Given the description of an element on the screen output the (x, y) to click on. 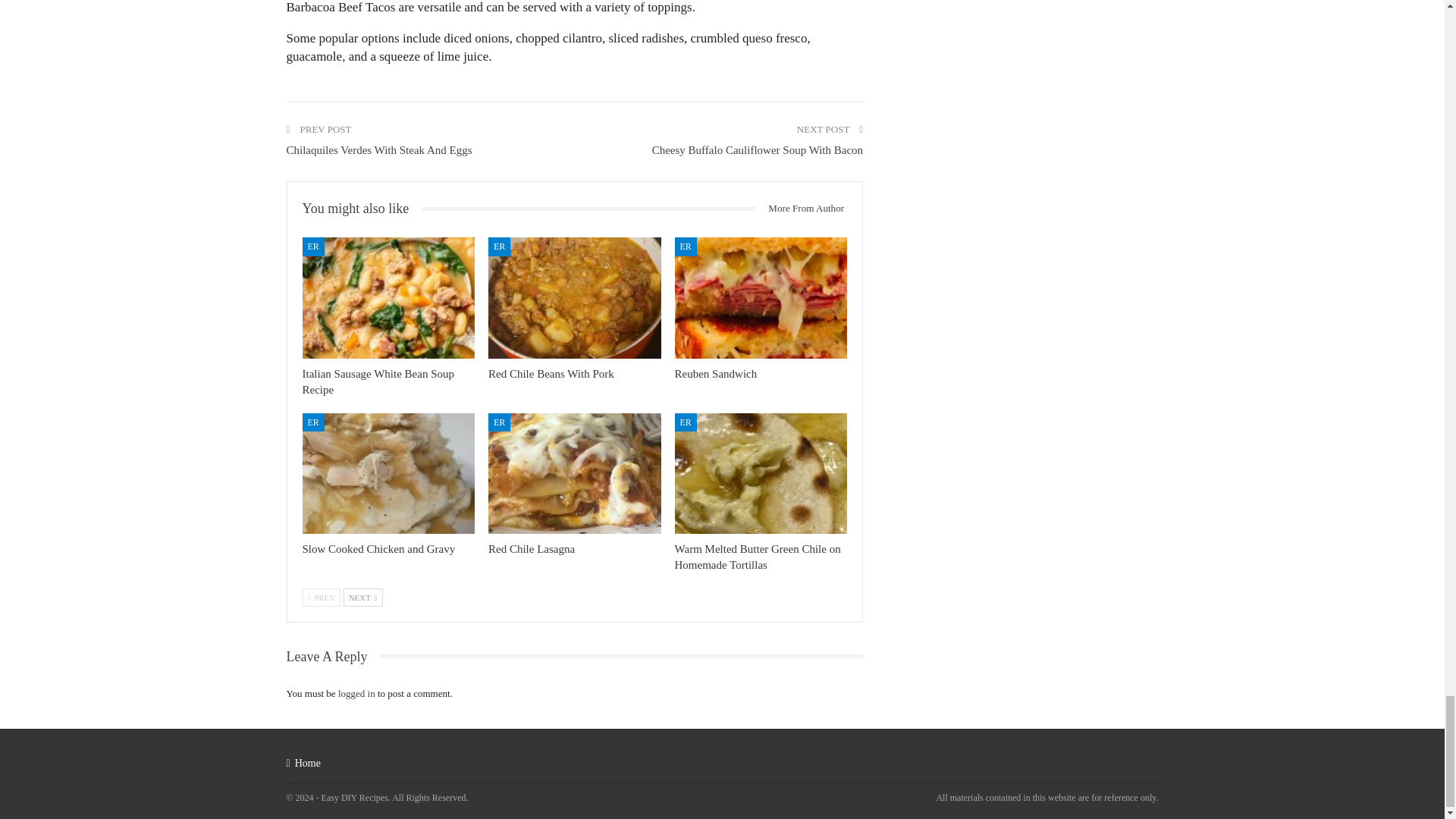
Red Chile Beans With Pork (574, 297)
You might also like (361, 208)
Red Chile Lasagna (574, 473)
Chilaquiles Verdes With Steak And Eggs (378, 150)
Slow Cooked Chicken and Gravy (377, 548)
Red Chile Beans With Pork (550, 373)
Previous (320, 597)
Slow Cooked Chicken and Gravy (387, 473)
Italian Sausage White Bean Soup Recipe (387, 297)
ER (312, 422)
